Given the description of an element on the screen output the (x, y) to click on. 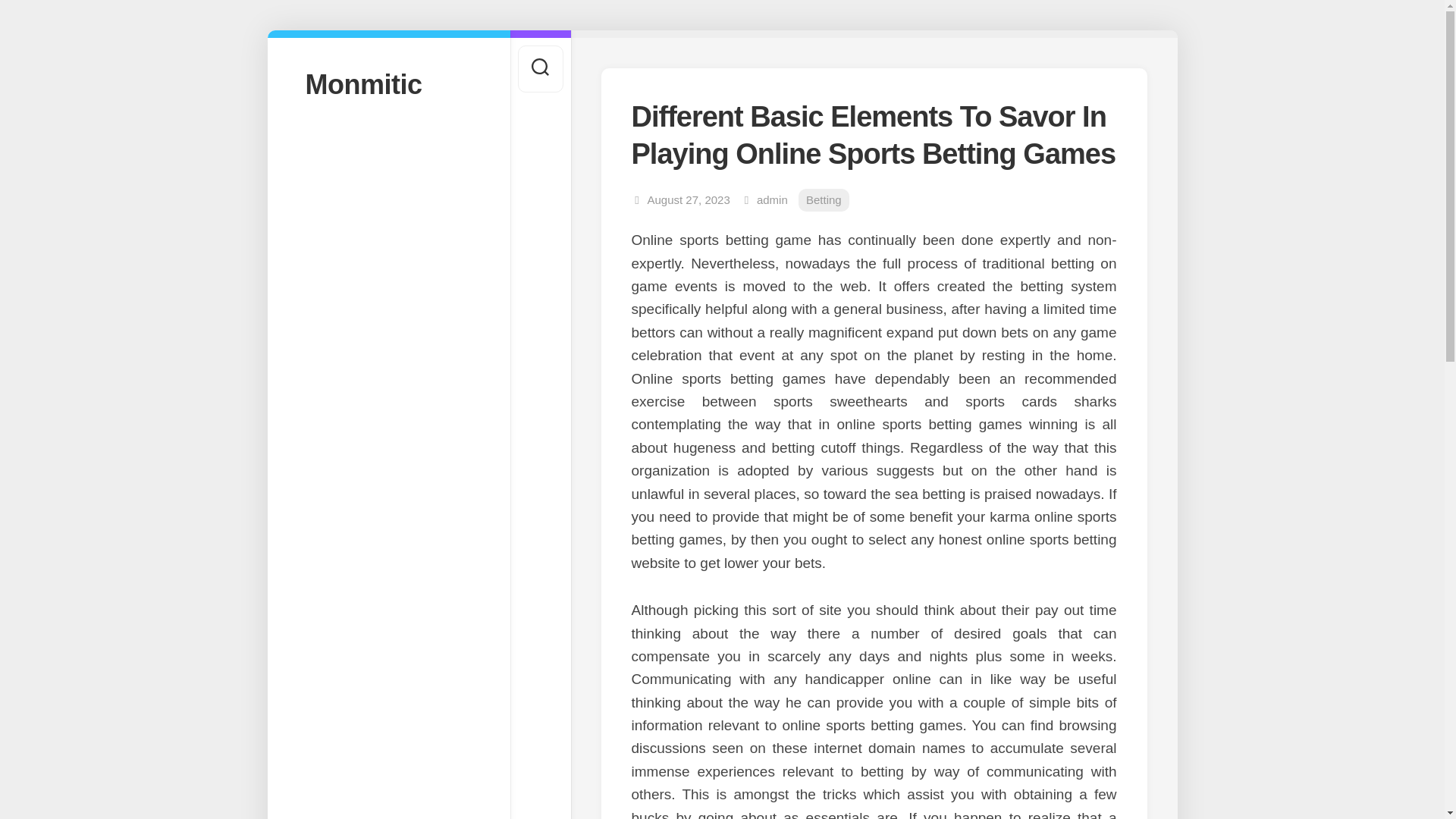
Posts by admin (772, 199)
Betting (822, 200)
Monmitic (387, 83)
admin (772, 199)
